Given the description of an element on the screen output the (x, y) to click on. 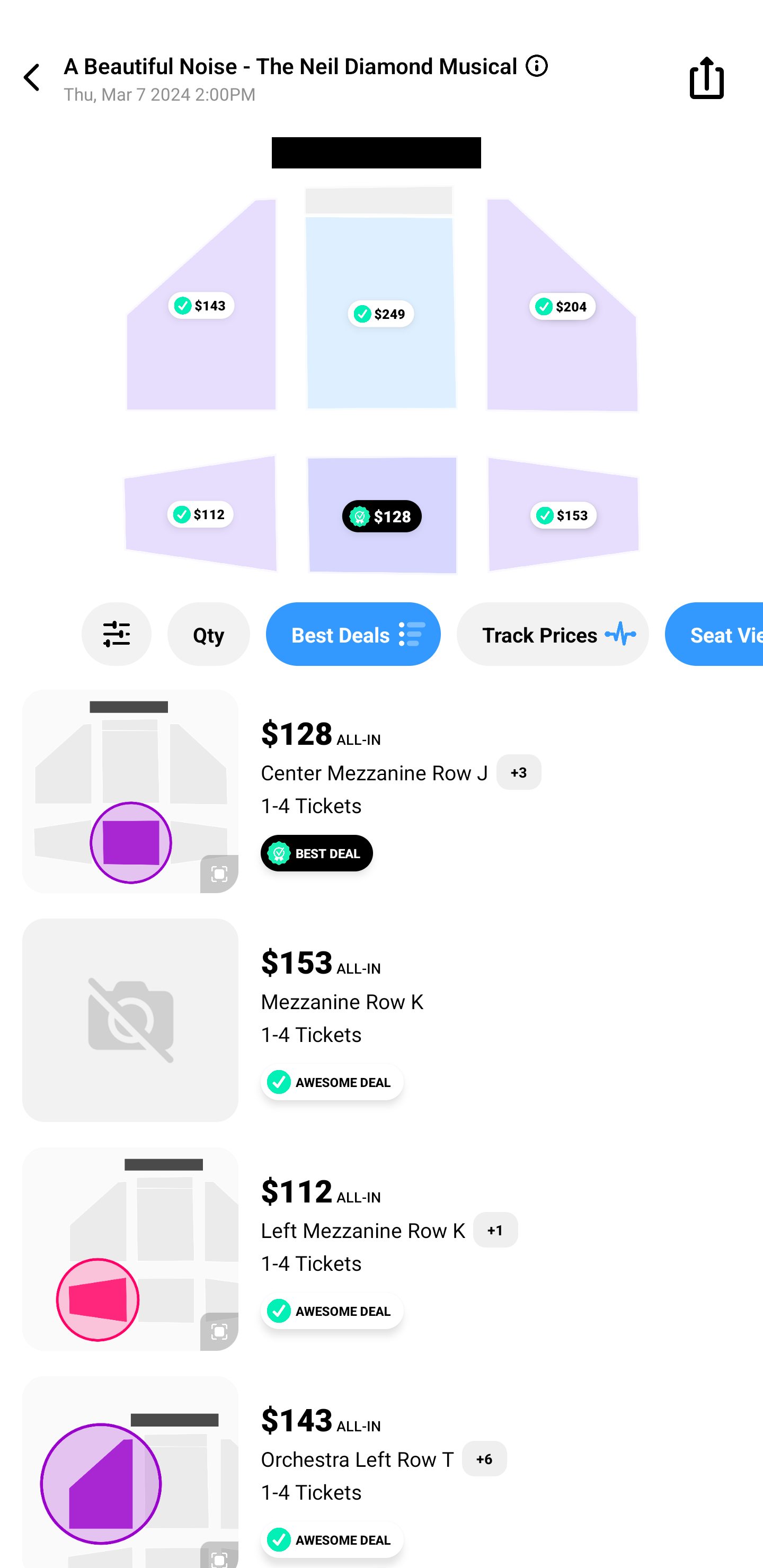
$249 (380, 313)
Qty (208, 634)
Best Deals (353, 634)
Track Prices (553, 634)
+3 (518, 772)
BEST DEAL (316, 852)
AWESOME DEAL (331, 1081)
+1 (495, 1230)
AWESOME DEAL (331, 1310)
+6 (484, 1458)
AWESOME DEAL (331, 1539)
